Given the description of an element on the screen output the (x, y) to click on. 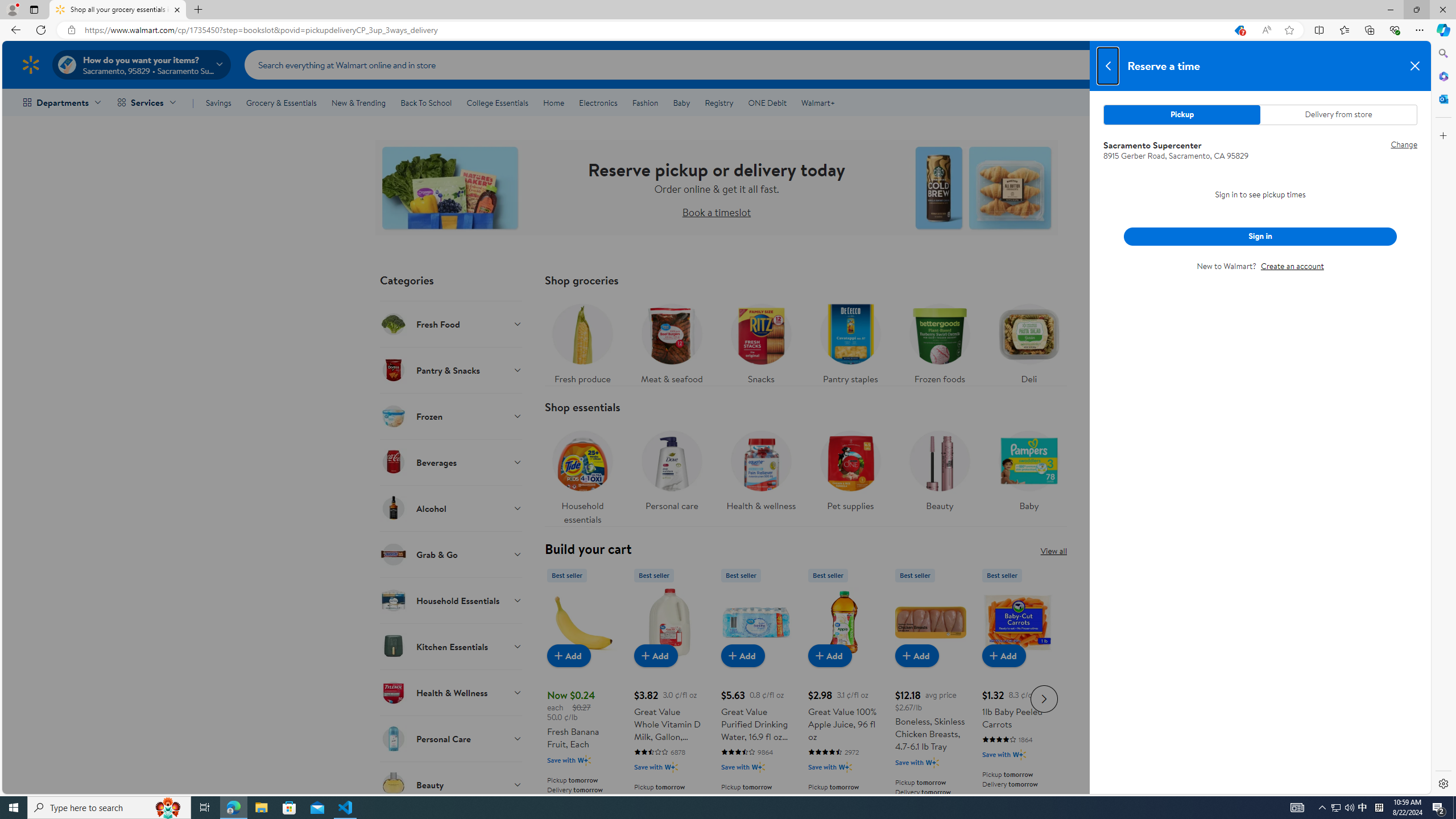
Sign InAccount (1347, 64)
Meat & seafood (671, 340)
Add to cart - 1lb Baby Peeled Carrots (1004, 655)
Great Value 100% Apple Juice, 96 fl oz (843, 621)
Household Essentials (451, 600)
Fresh produce (582, 340)
